Given the description of an element on the screen output the (x, y) to click on. 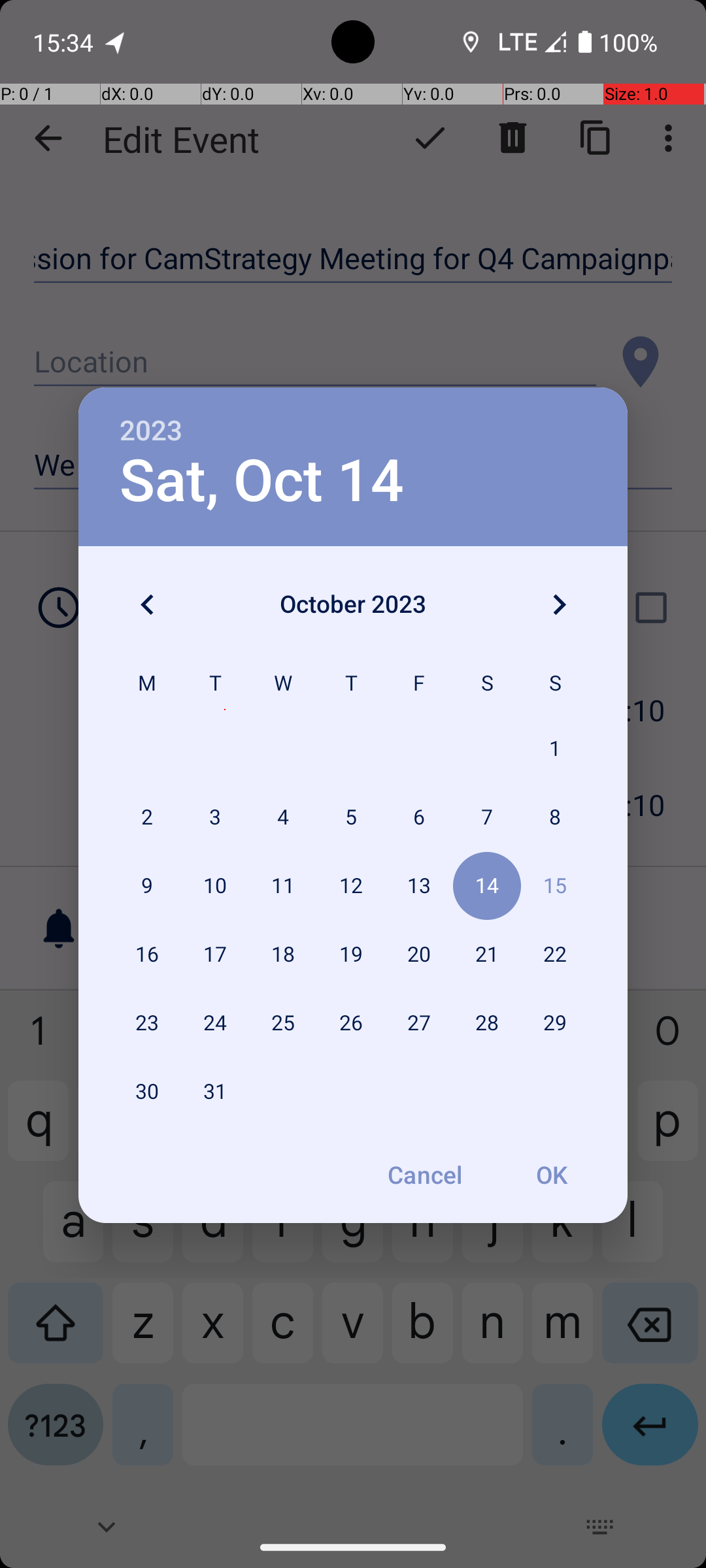
Sat, Oct 14 Element type: android.widget.TextView (261, 480)
